Given the description of an element on the screen output the (x, y) to click on. 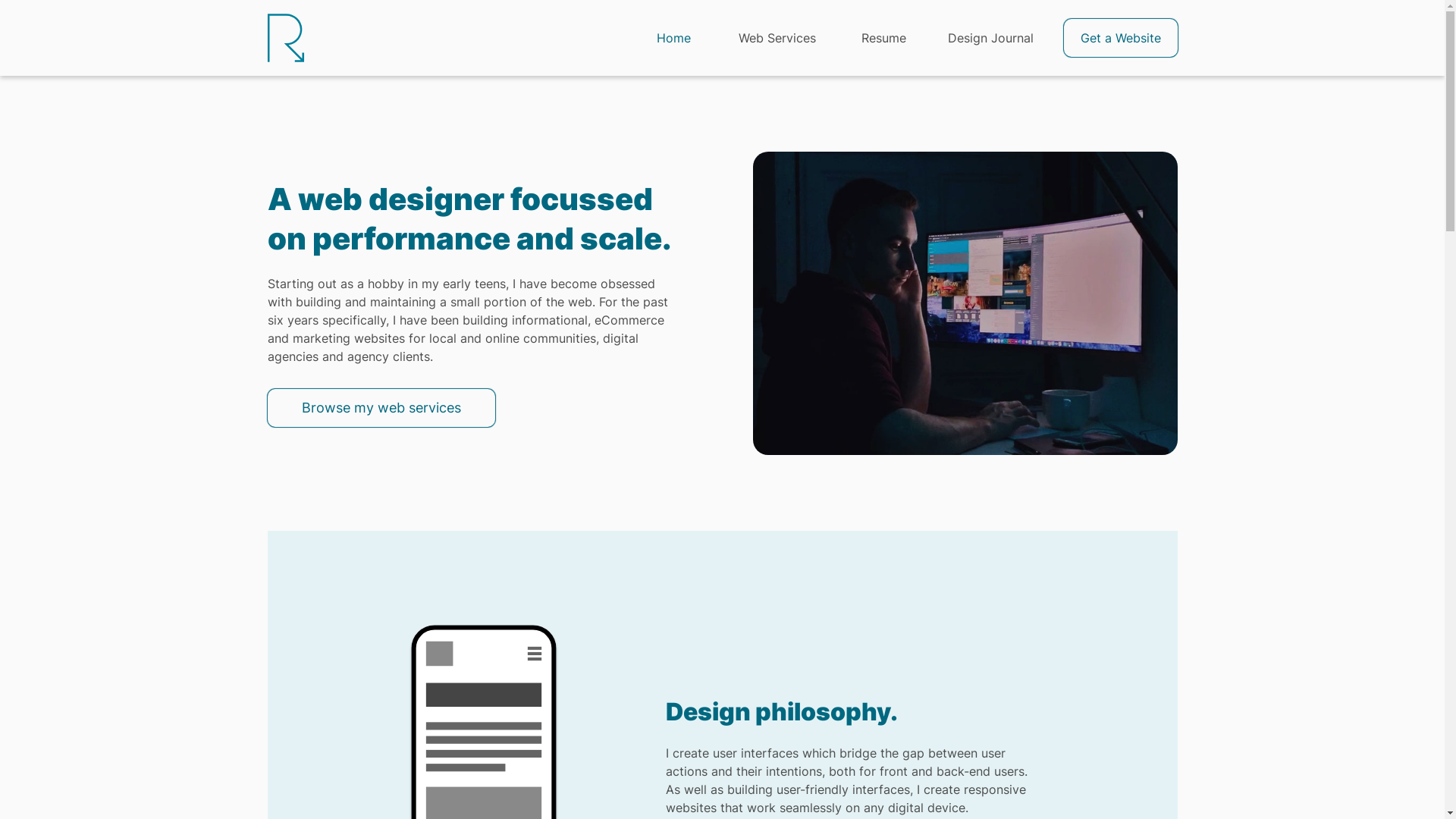
Browse my web services Element type: text (380, 407)
Home Element type: text (673, 37)
Get a Website Element type: text (1119, 37)
Resume Element type: text (883, 37)
Design Journal Element type: text (991, 37)
Web Services Element type: text (777, 37)
